Given the description of an element on the screen output the (x, y) to click on. 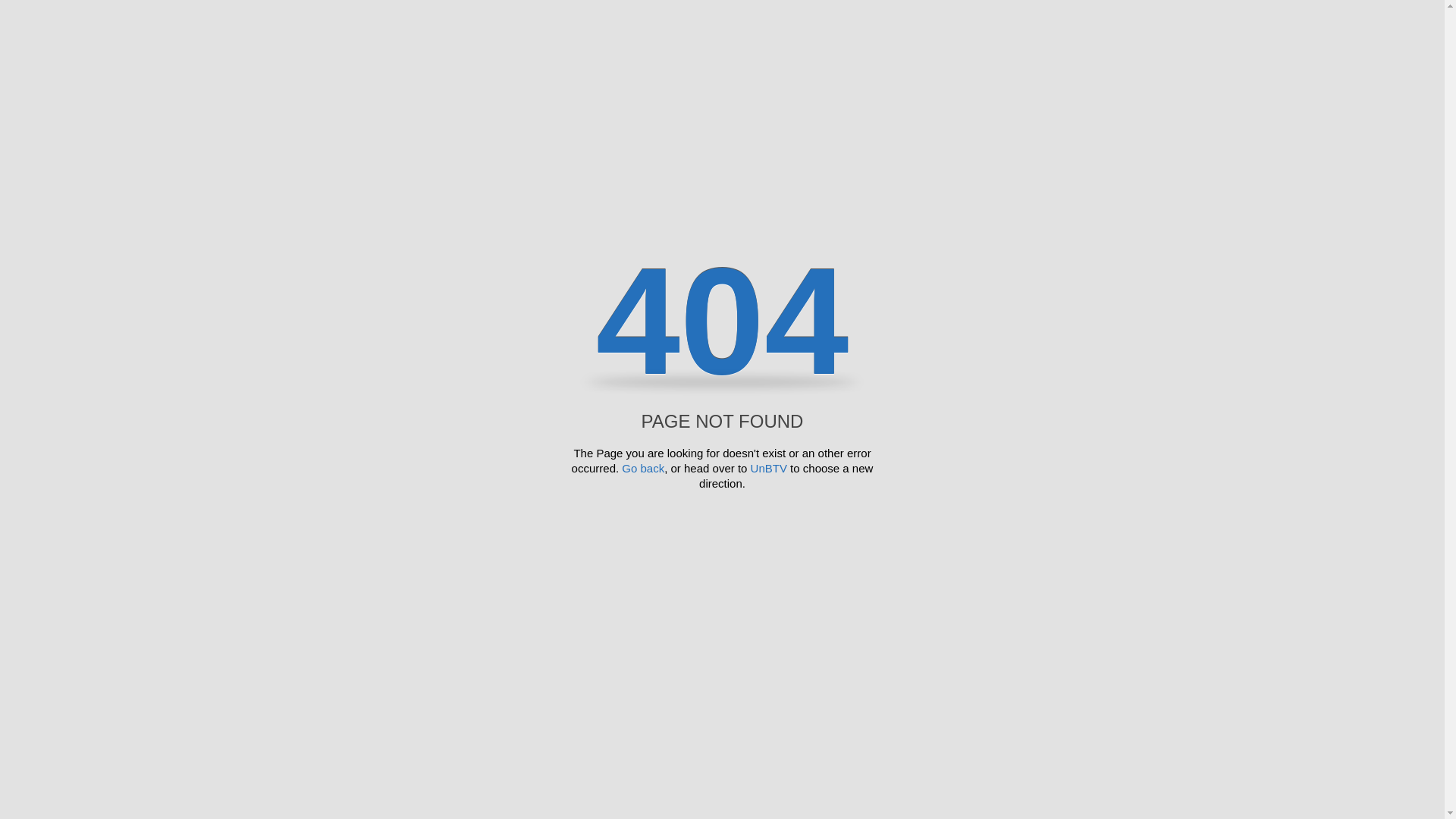
Go back Element type: text (642, 467)
UnBTV Element type: text (768, 467)
